Given the description of an element on the screen output the (x, y) to click on. 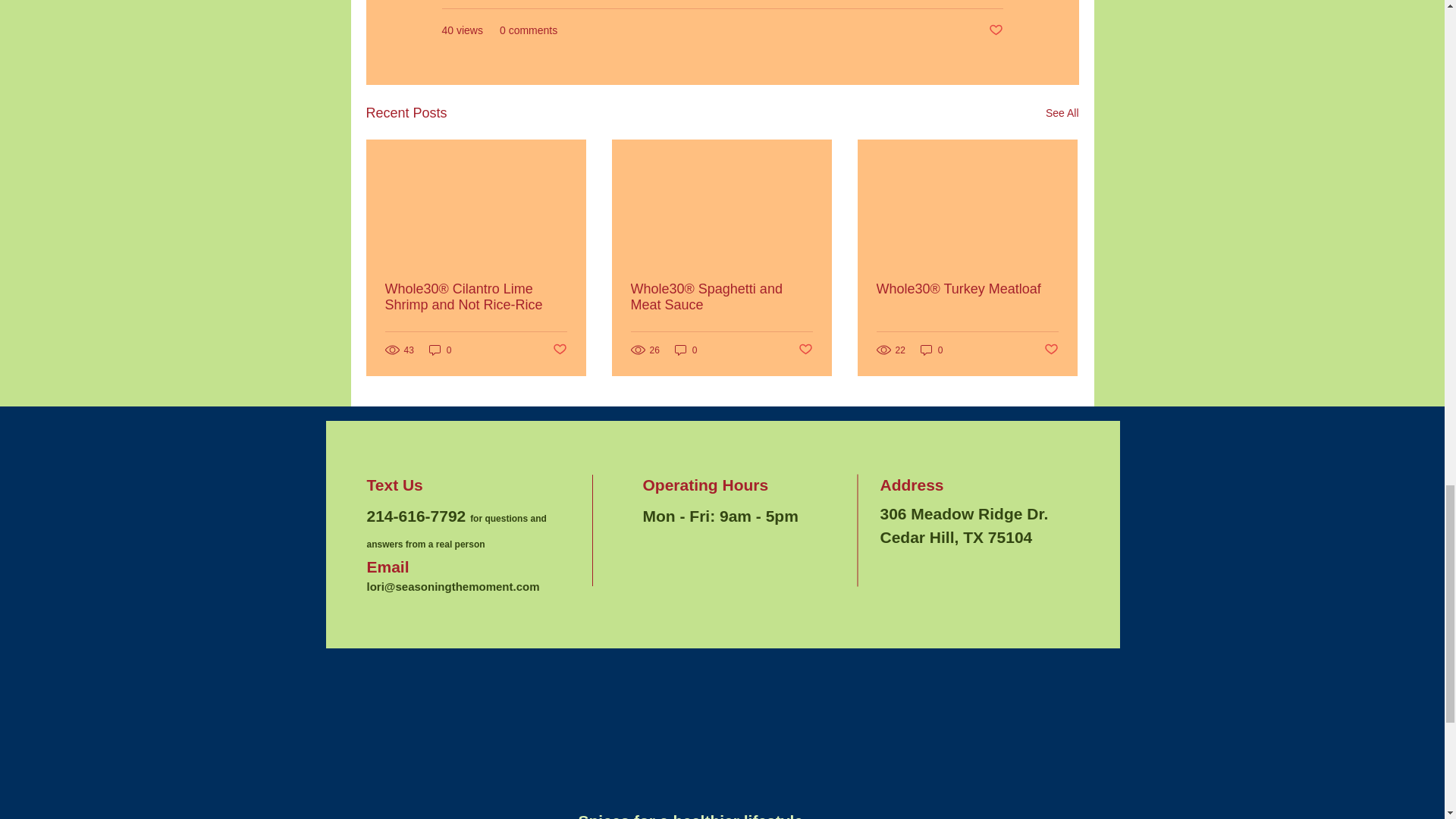
Post not marked as liked (995, 30)
See All (1061, 113)
0 (440, 350)
